Given the description of an element on the screen output the (x, y) to click on. 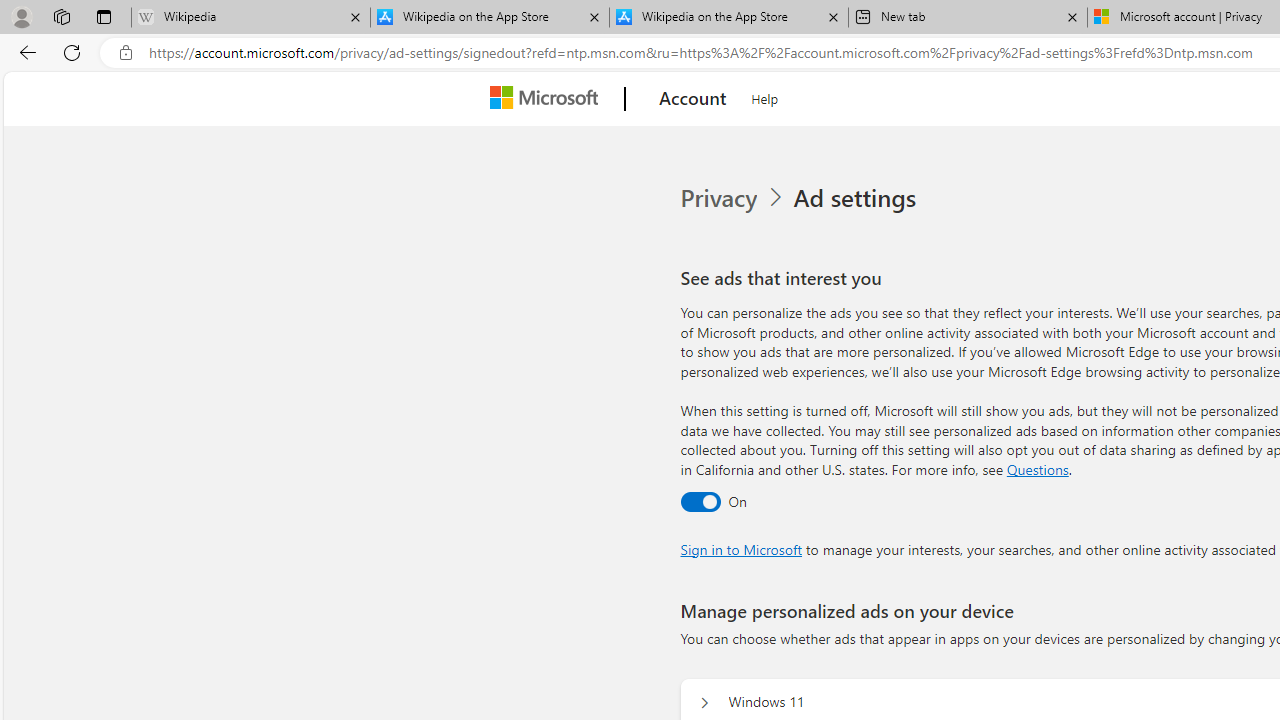
Ad settings toggle (699, 501)
Manage personalized ads on your device Windows 11 (704, 702)
Sign in to Microsoft (740, 548)
Account (692, 99)
